Given the description of an element on the screen output the (x, y) to click on. 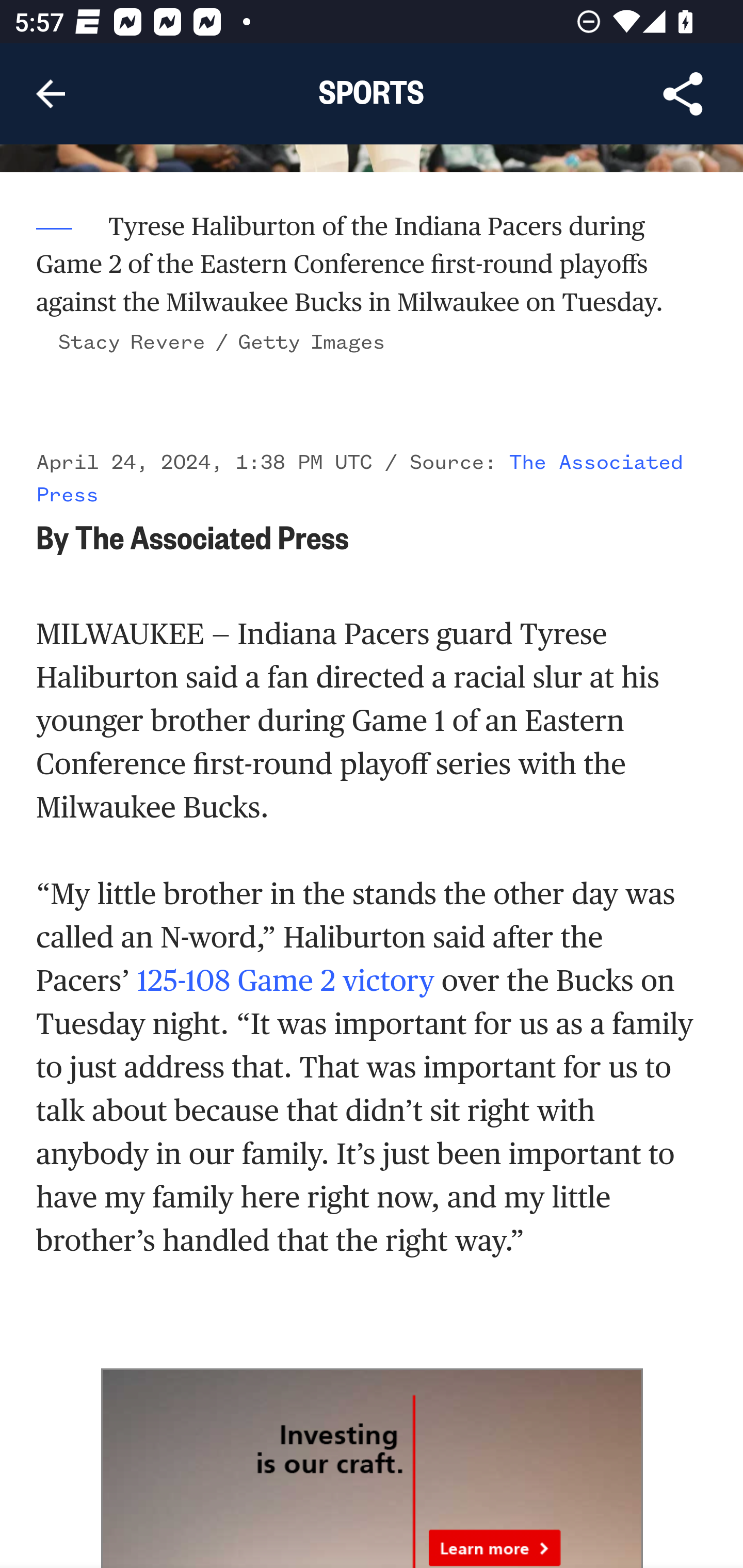
Navigate up (50, 93)
Share Article, button (683, 94)
The Associated Press (360, 479)
125-108 Game 2 victory (284, 979)
